Given the description of an element on the screen output the (x, y) to click on. 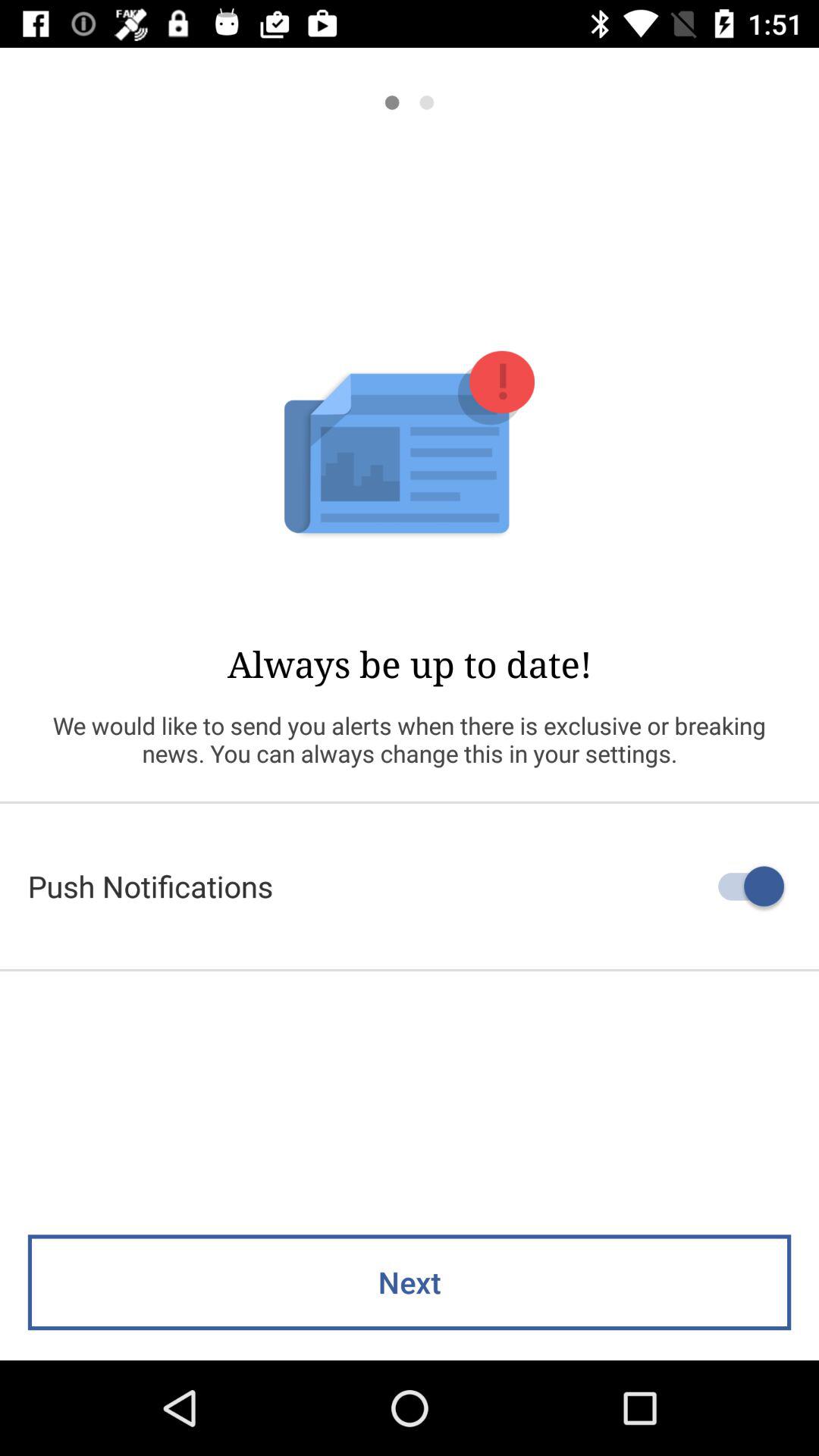
select push notifications icon (409, 886)
